Given the description of an element on the screen output the (x, y) to click on. 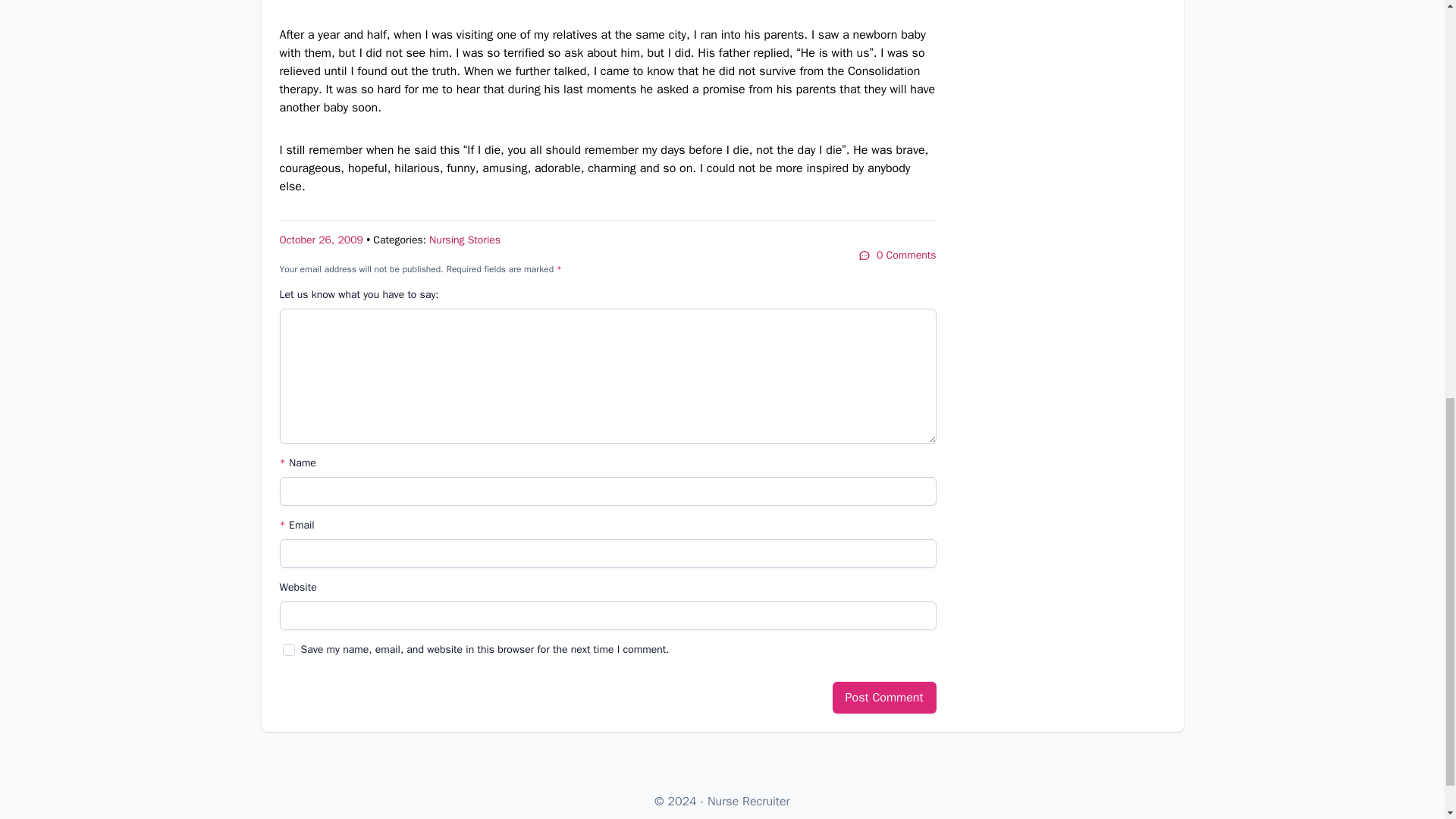
Post Comment (884, 697)
Nursing Stories (464, 239)
0 Comments (897, 255)
Permalink to Nurses On The Go: Rashmi Sharma (320, 239)
Post Comment (884, 697)
October 26, 2009 (320, 239)
Go to comment section (897, 255)
yes (288, 649)
